Given the description of an element on the screen output the (x, y) to click on. 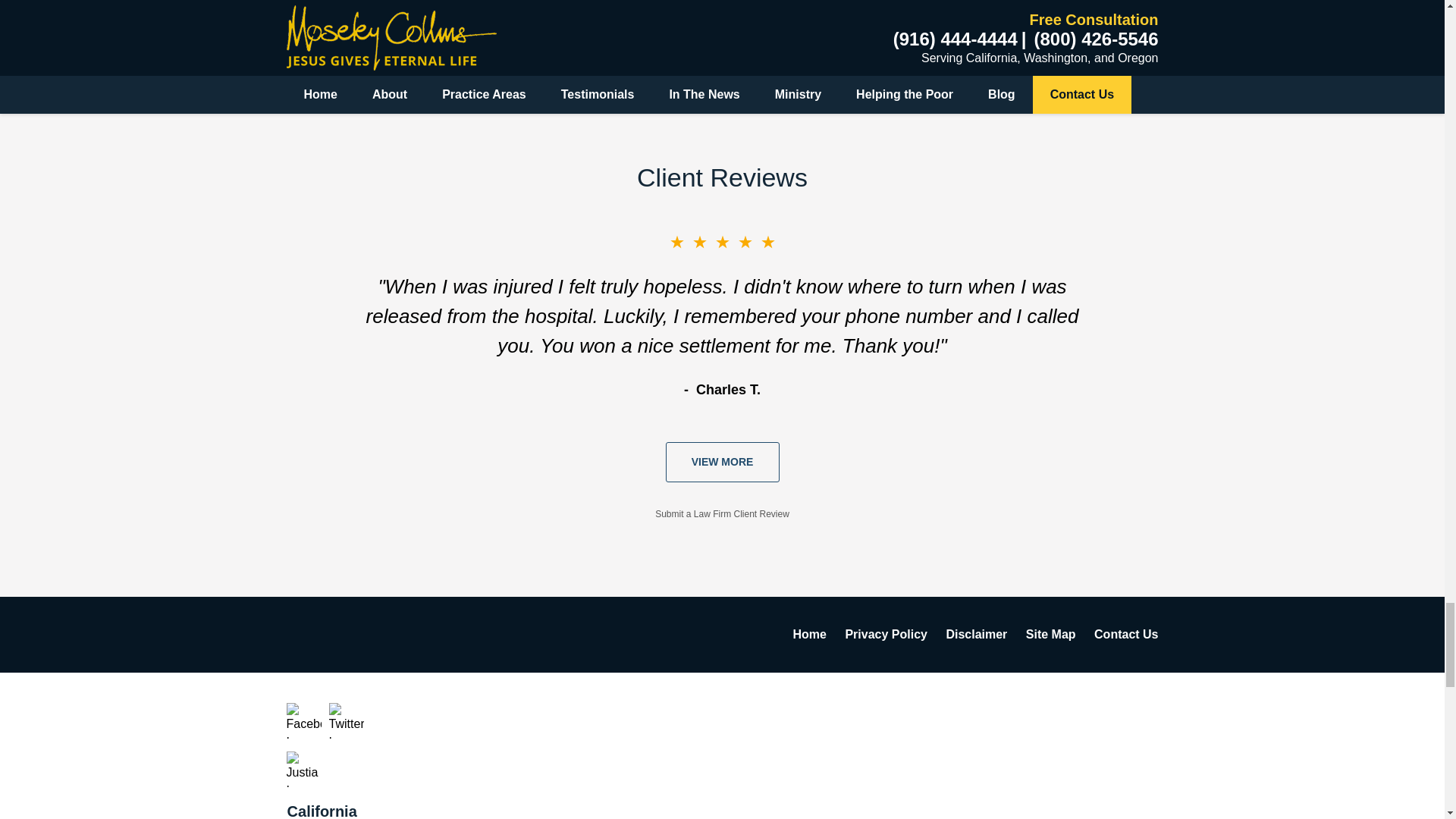
Facebook (303, 720)
Twitter (347, 720)
Justia (303, 769)
